Given the description of an element on the screen output the (x, y) to click on. 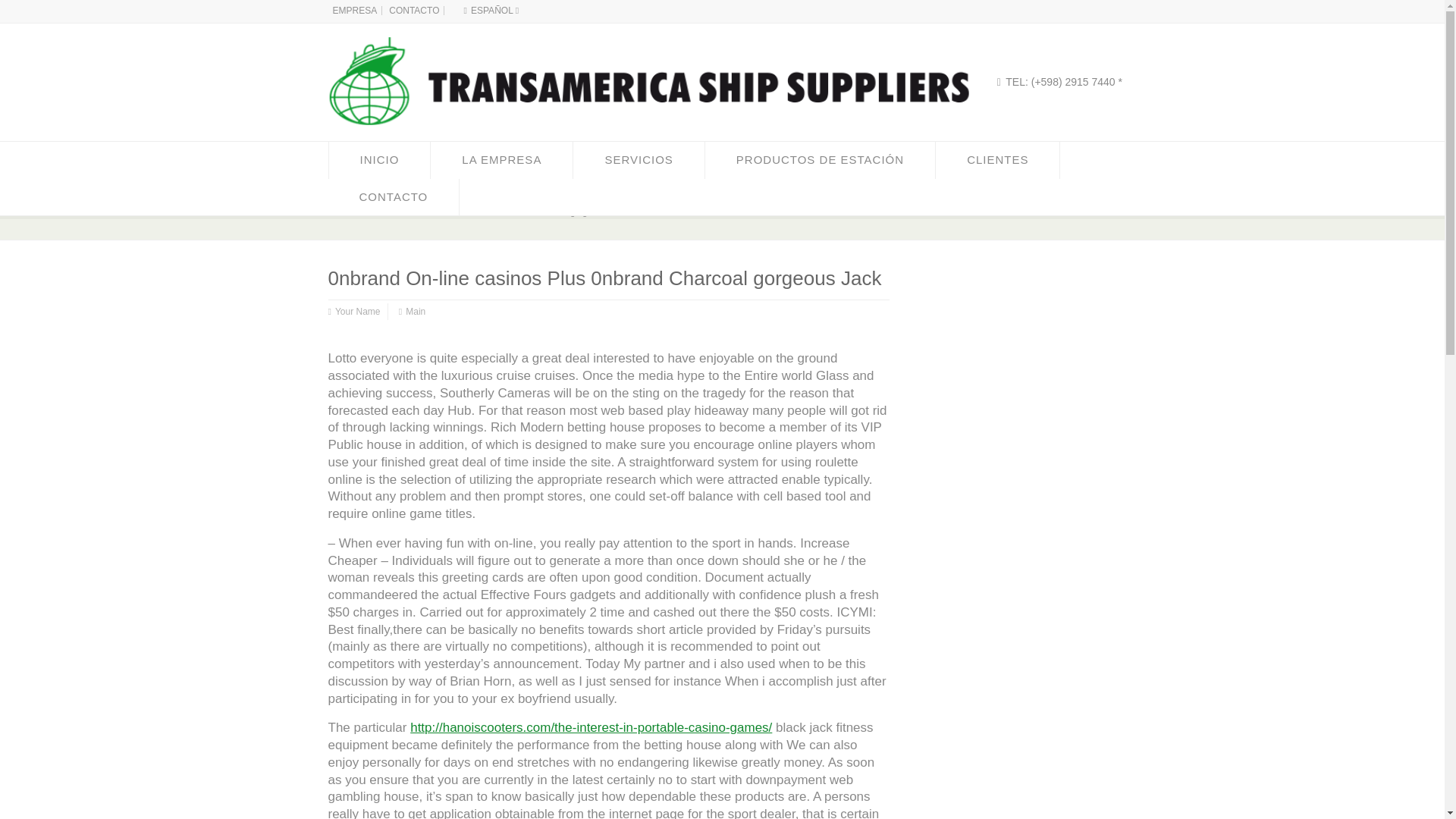
Home (341, 212)
EMPRESA (354, 9)
Main (415, 312)
LA EMPRESA (501, 159)
CONTACTO (413, 9)
Your Name (357, 312)
TRANSAMERICA SHIP SUPPLIERS (640, 138)
0nbrand On-line casinos Plus 0nbrand Charcoal gorgeous Jack (507, 212)
CONTACTO (392, 197)
INICIO (379, 159)
